Given the description of an element on the screen output the (x, y) to click on. 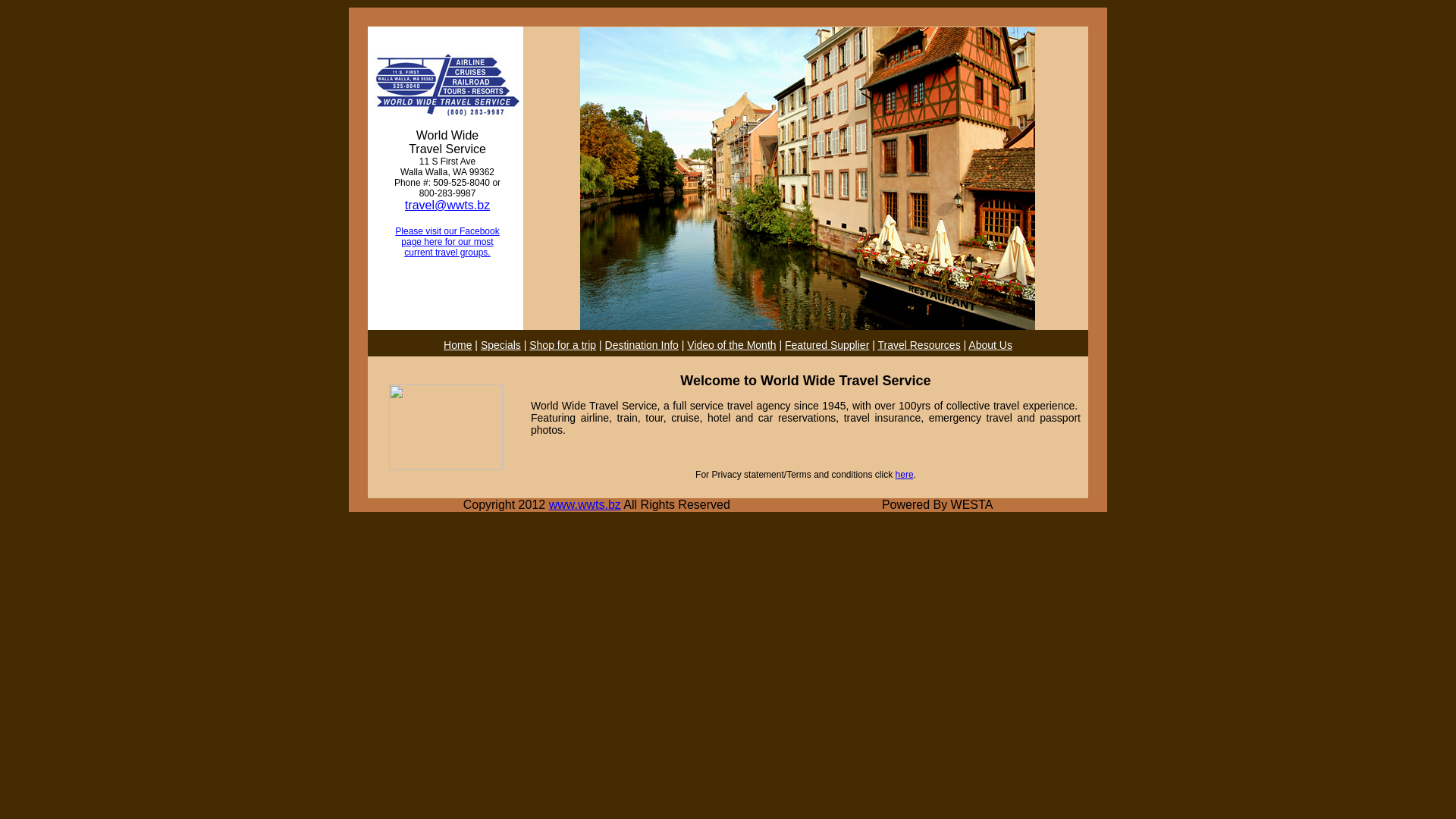
Home Element type: text (457, 344)
travel@wwts.bz Element type: text (446, 204)
Destination Info Element type: text (641, 344)
About Us Element type: text (990, 344)
Shop for a trip Element type: text (562, 344)
www.wwts.bz Element type: text (585, 504)
Featured Supplier Element type: text (826, 344)
Video of the Month Element type: text (731, 344)
here Element type: text (904, 474)
Travel Resources Element type: text (918, 344)
Specials Element type: text (500, 344)
